Given the description of an element on the screen output the (x, y) to click on. 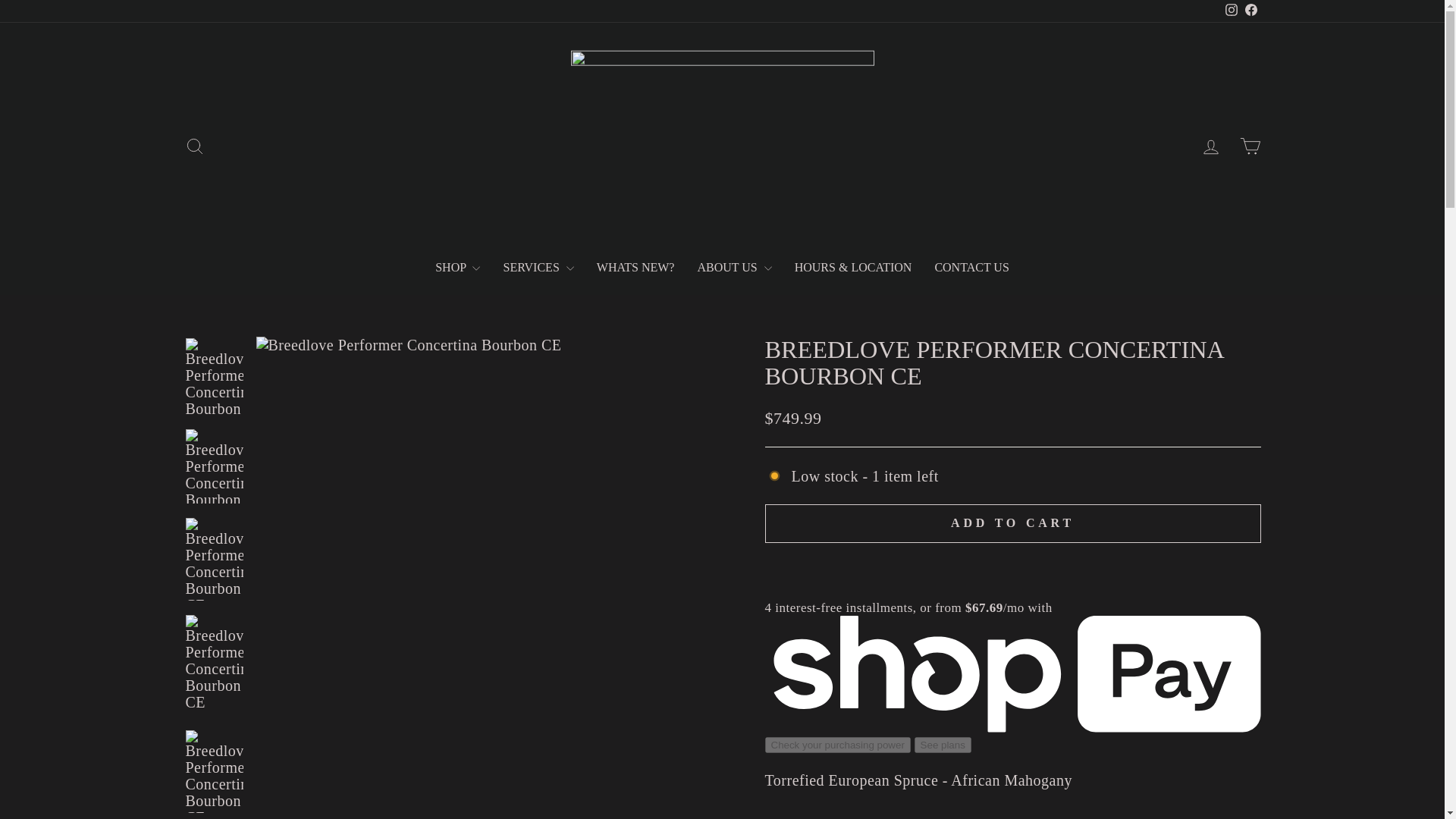
instagram (1231, 9)
ACCOUNT (1210, 147)
ICON-SEARCH (194, 146)
